Given the description of an element on the screen output the (x, y) to click on. 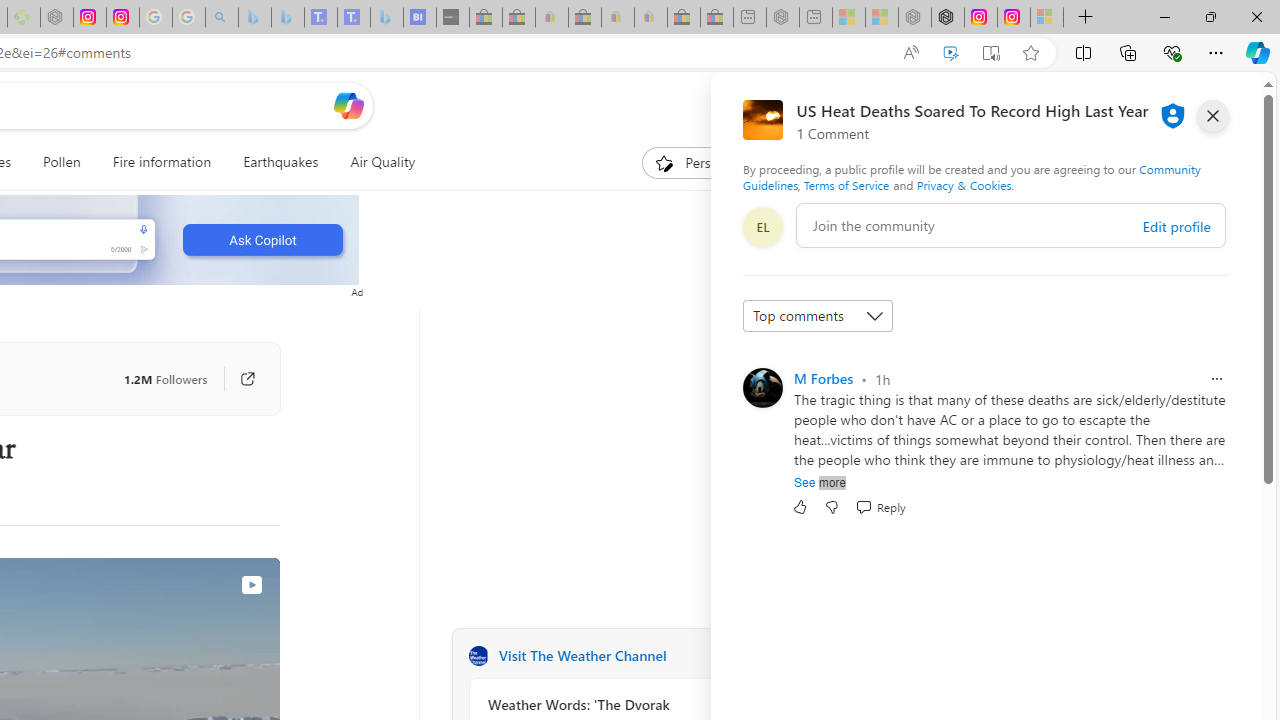
Nordace - Nordace Edin Collection - Sleeping (56, 17)
Notifications (1176, 105)
Threats and offensive language policy | eBay - Sleeping (617, 17)
Payments Terms of Use | eBay.com - Sleeping (650, 17)
Enhance video (950, 53)
Profile Picture (762, 387)
Safety in Our Products - Google Safety Center - Sleeping (155, 17)
Earthquakes (280, 162)
alabama high school quarterback dies - Search - Sleeping (222, 17)
Microsoft rewards (1137, 105)
The importance of being lazy - Sleeping (882, 17)
Profile Picture (762, 387)
Pollen (61, 162)
